Given the description of an element on the screen output the (x, y) to click on. 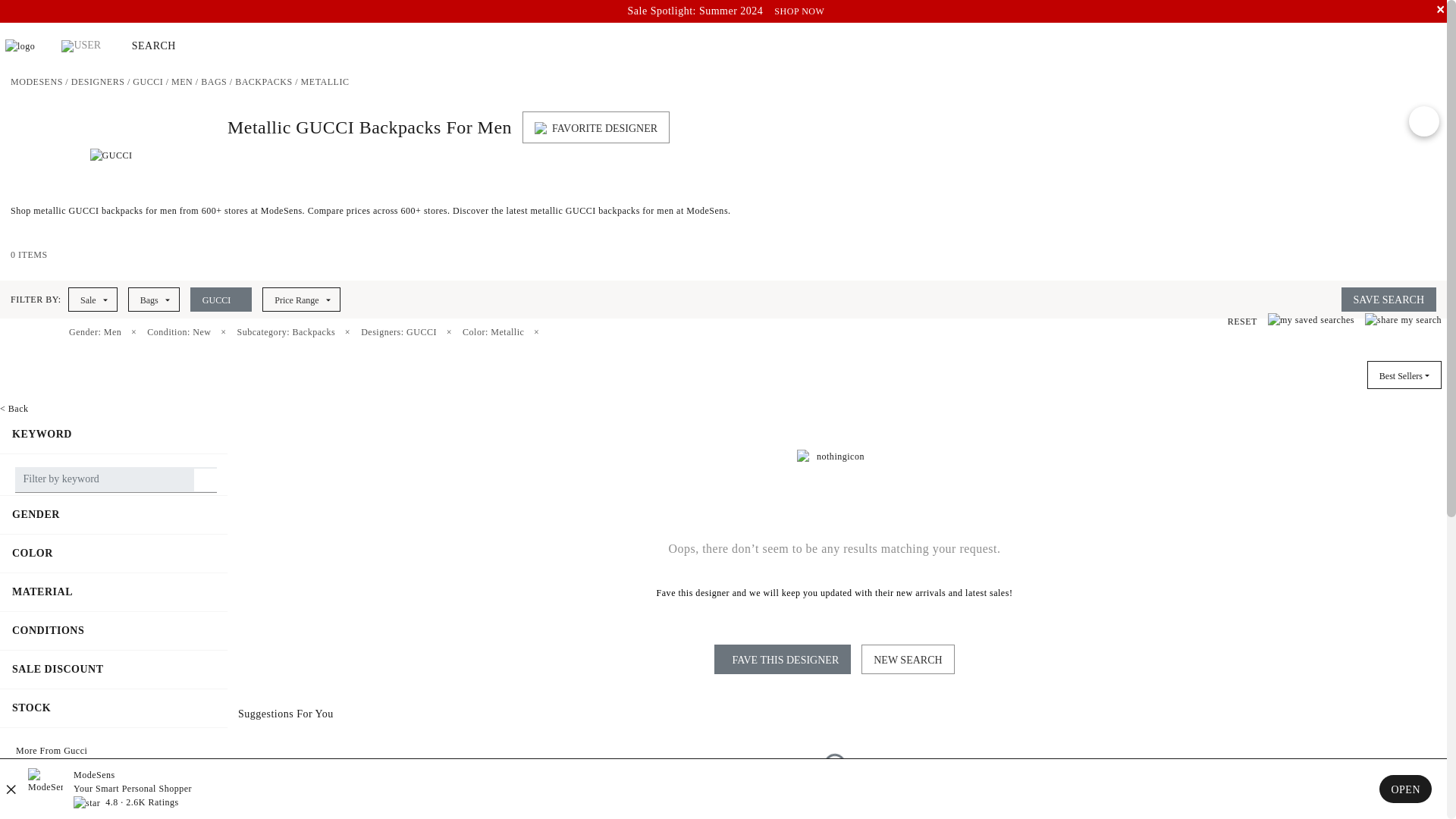
Gucci Backpacks for Men (263, 81)
OPEN (1404, 788)
Gucci Bags for Men (213, 81)
Metallic Gucci Backpacks for Men (325, 81)
Gucci (147, 81)
ModeSens (36, 81)
Gucci Men (181, 81)
Designers (98, 81)
